Given the description of an element on the screen output the (x, y) to click on. 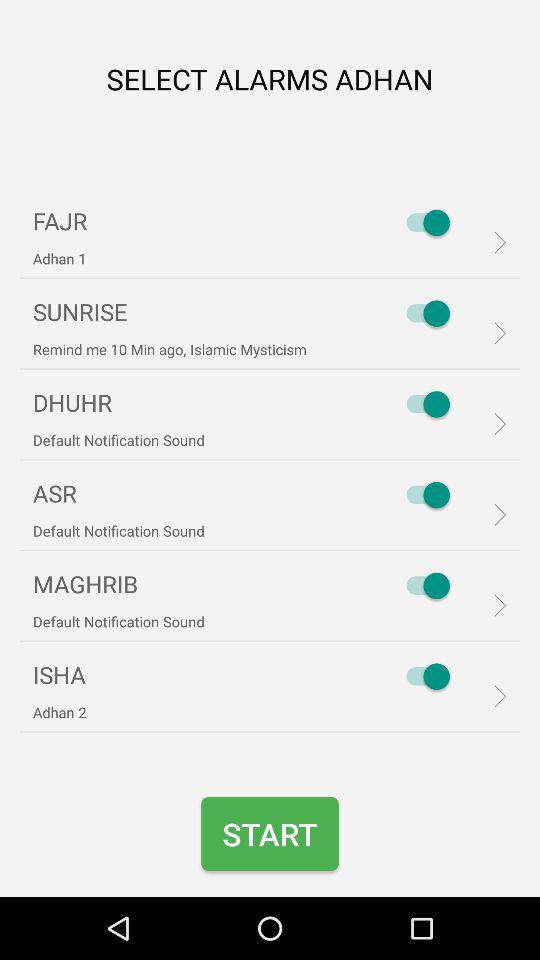
deactivate this alarm (423, 222)
